Given the description of an element on the screen output the (x, y) to click on. 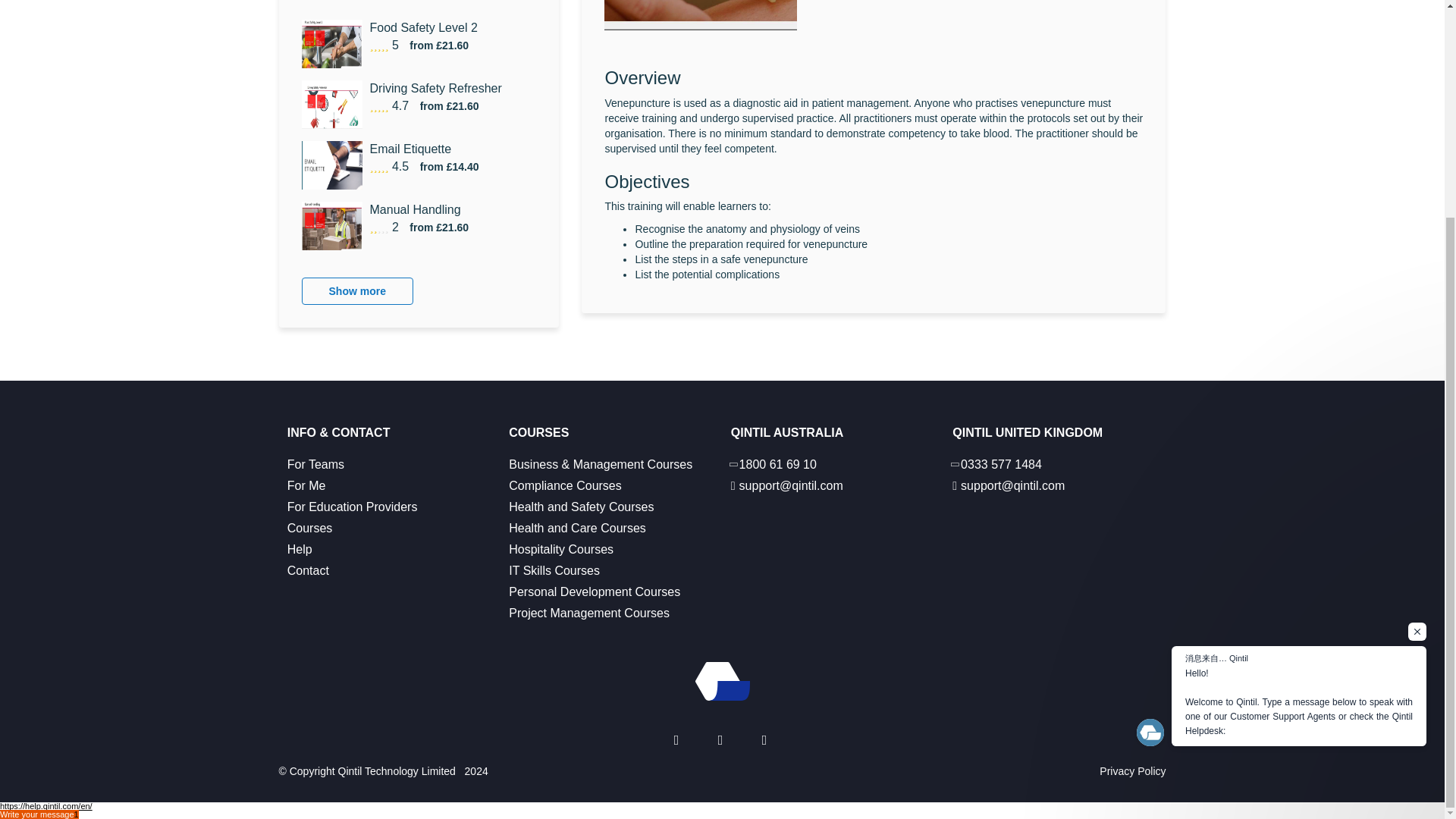
Logo (721, 681)
